Given the description of an element on the screen output the (x, y) to click on. 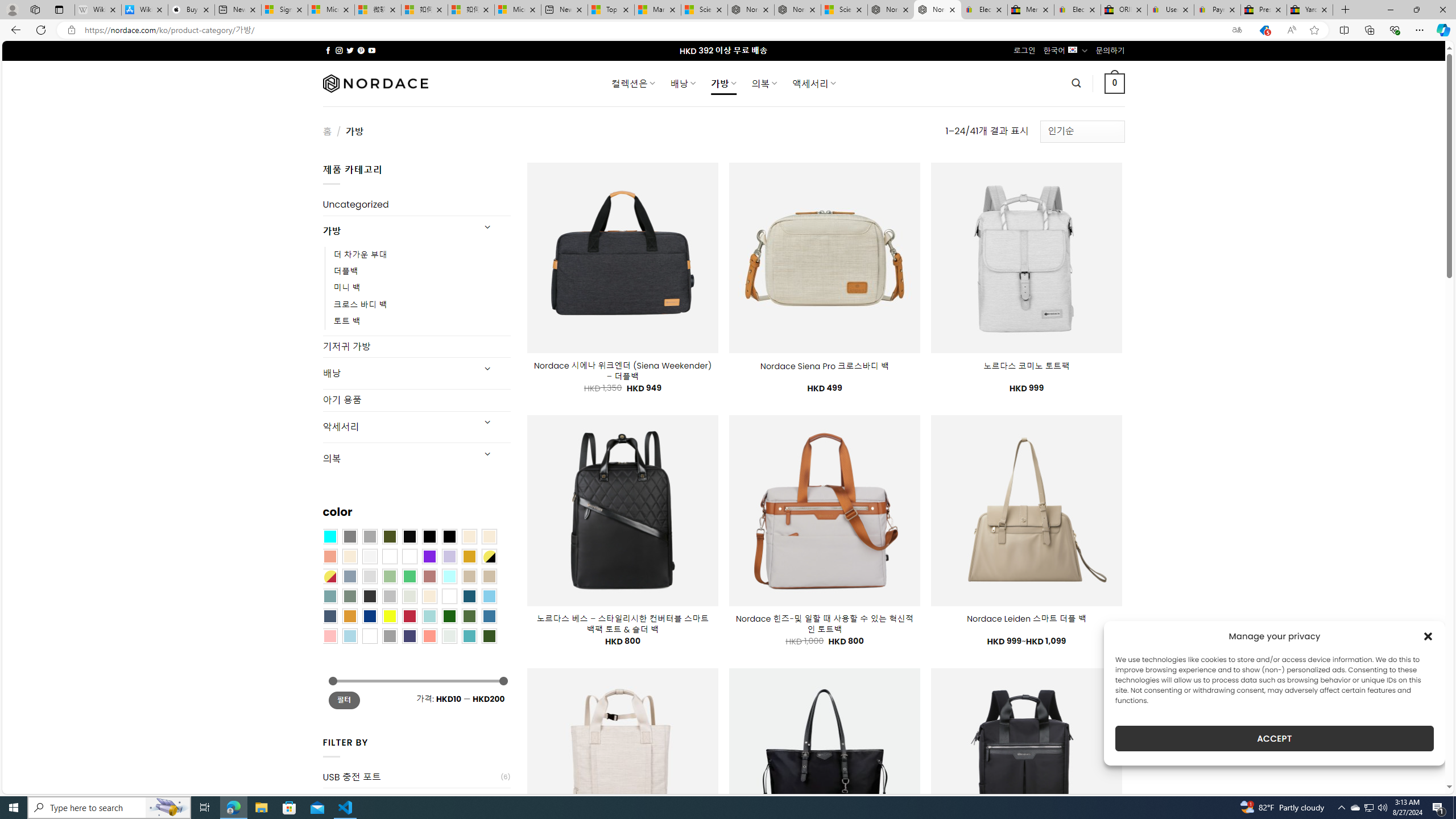
Follow on YouTube (371, 50)
Uncategorized (416, 204)
Follow on Facebook (327, 50)
